Given the description of an element on the screen output the (x, y) to click on. 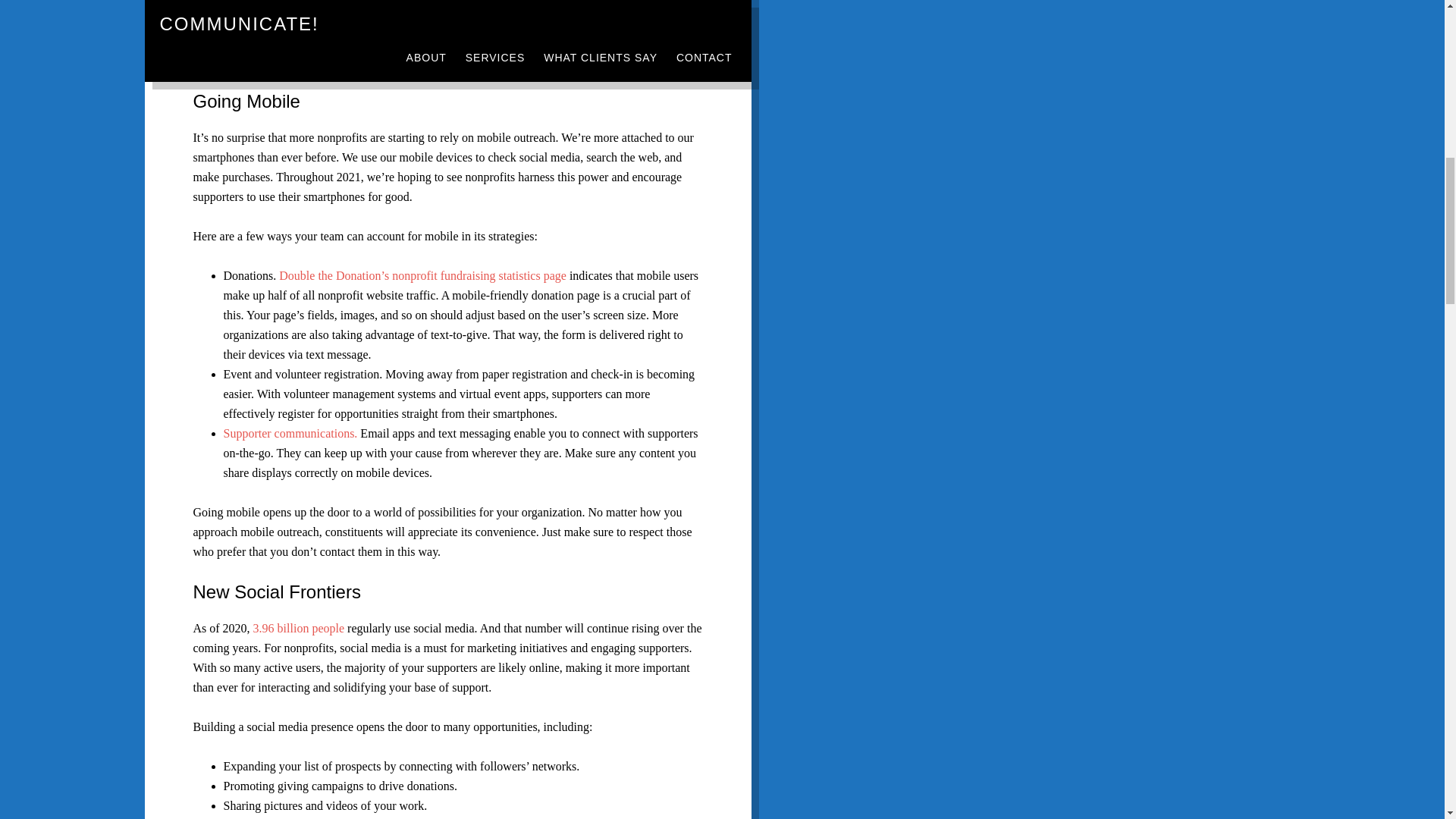
3.96 billion people (298, 627)
Supporter communications. (289, 432)
They readily adopted nonprofit software (444, 4)
